Given the description of an element on the screen output the (x, y) to click on. 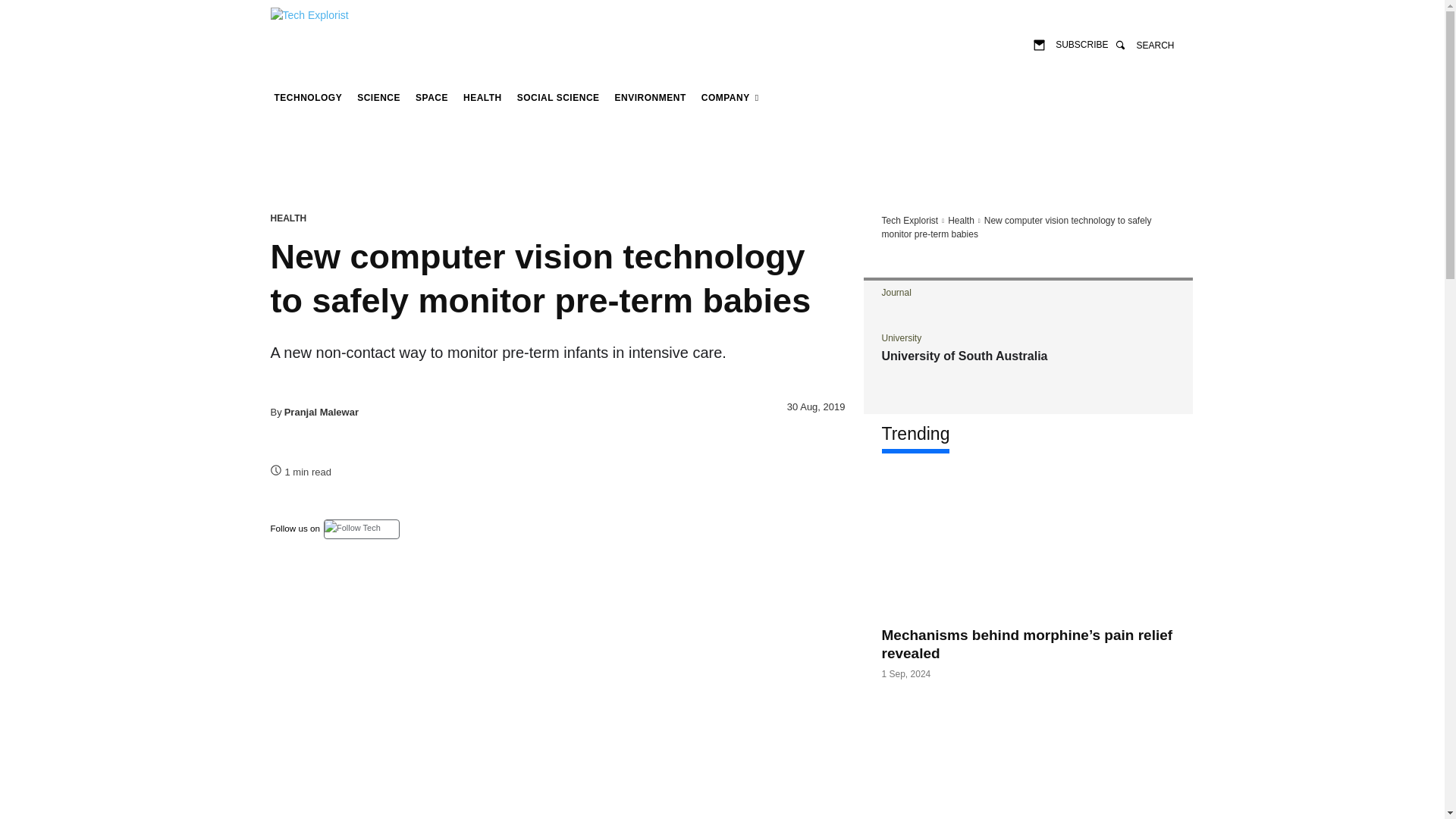
Pranjal Malewar (320, 411)
HEALTH (287, 217)
Technology (307, 97)
SEARCH (1144, 44)
SOCIAL SCIENCE (558, 97)
Tech Explorist (326, 21)
COMPANY (729, 97)
Health (482, 97)
SCIENCE (378, 97)
SPACE (431, 97)
